Given the description of an element on the screen output the (x, y) to click on. 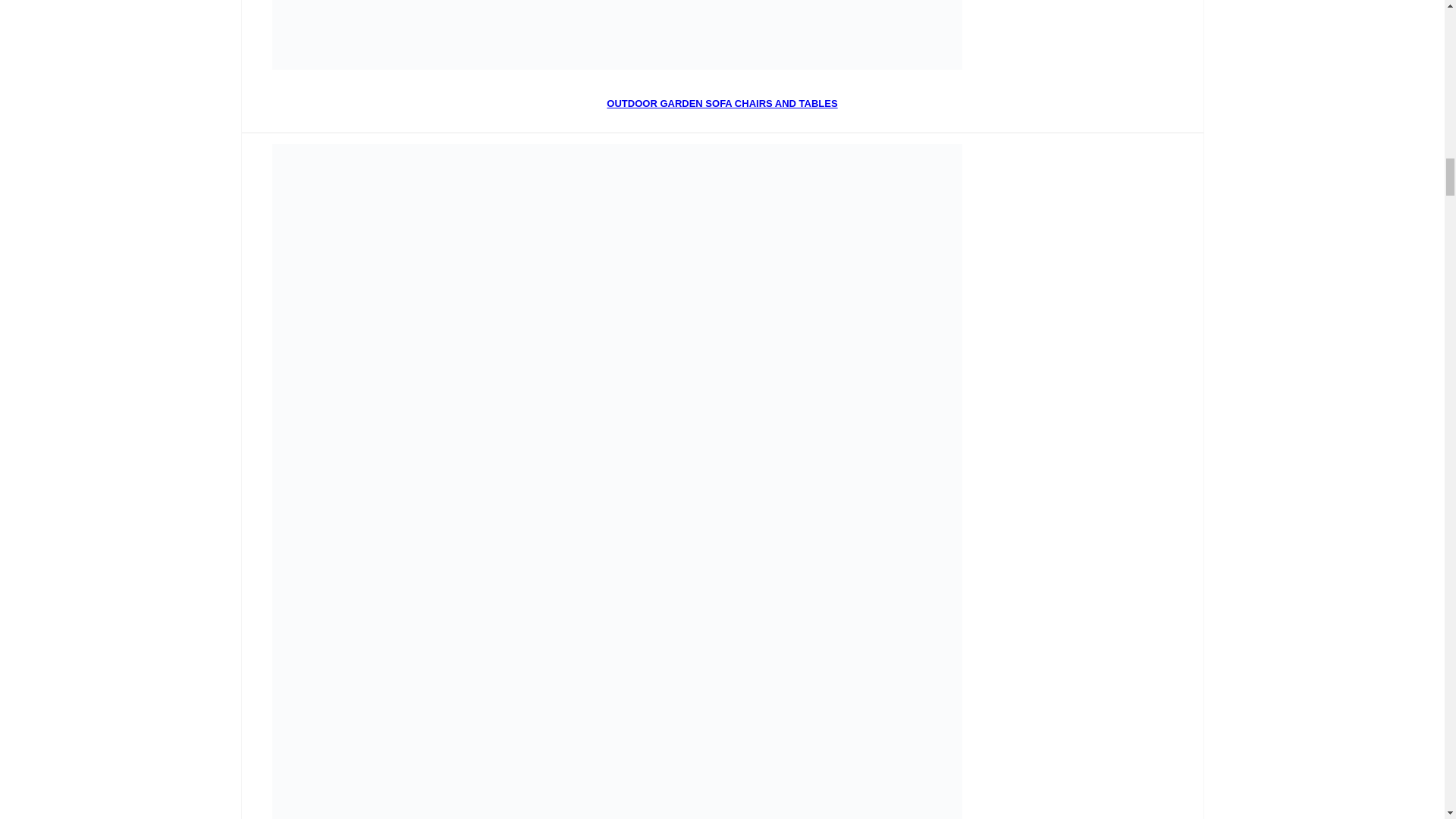
OUTDOOR GARDEN SOFA CHAIRS AND TABLES (722, 102)
